Given the description of an element on the screen output the (x, y) to click on. 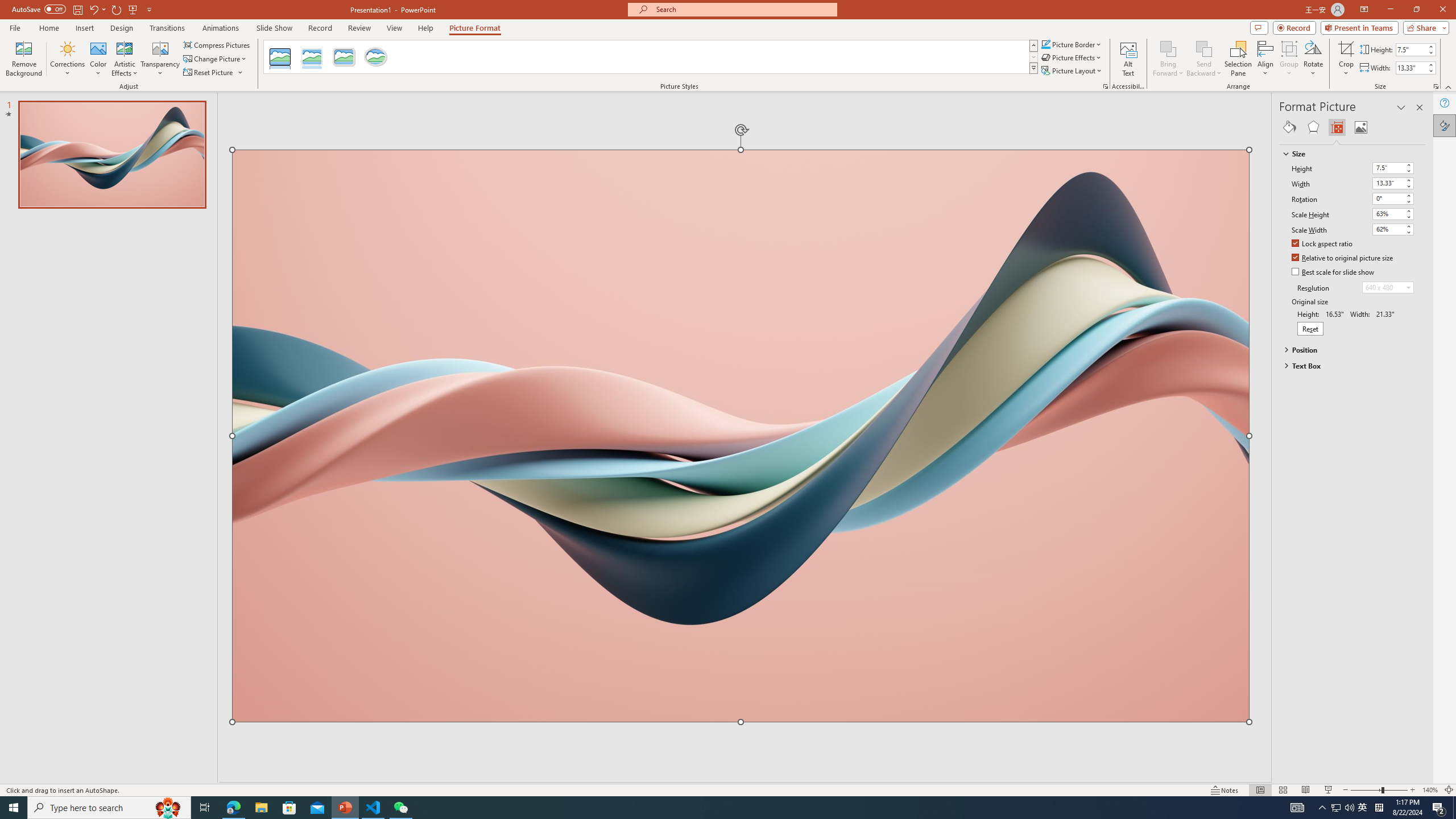
Size (1347, 153)
Reflected Bevel, Black (280, 56)
Scale Height (1388, 213)
Reset Picture (208, 72)
Scale Width (1393, 229)
Reflected Bevel, White (312, 56)
Picture Layout (1072, 69)
Picture Effects (1072, 56)
